Given the description of an element on the screen output the (x, y) to click on. 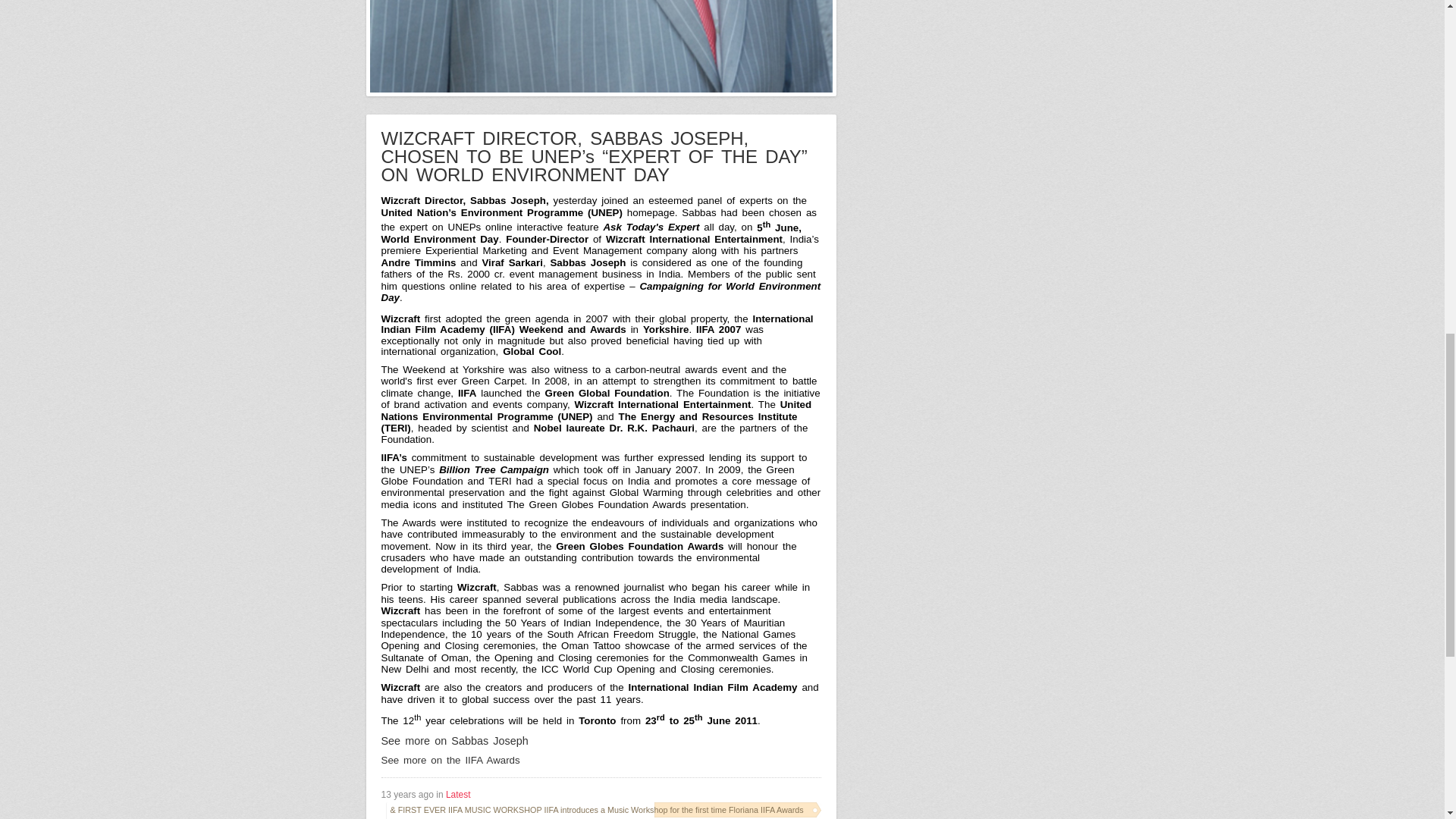
Latest (457, 794)
Sabbas Joseph (453, 740)
See more on the IIFA Awards (449, 759)
See more on Sabbas Joseph (453, 740)
